Given the description of an element on the screen output the (x, y) to click on. 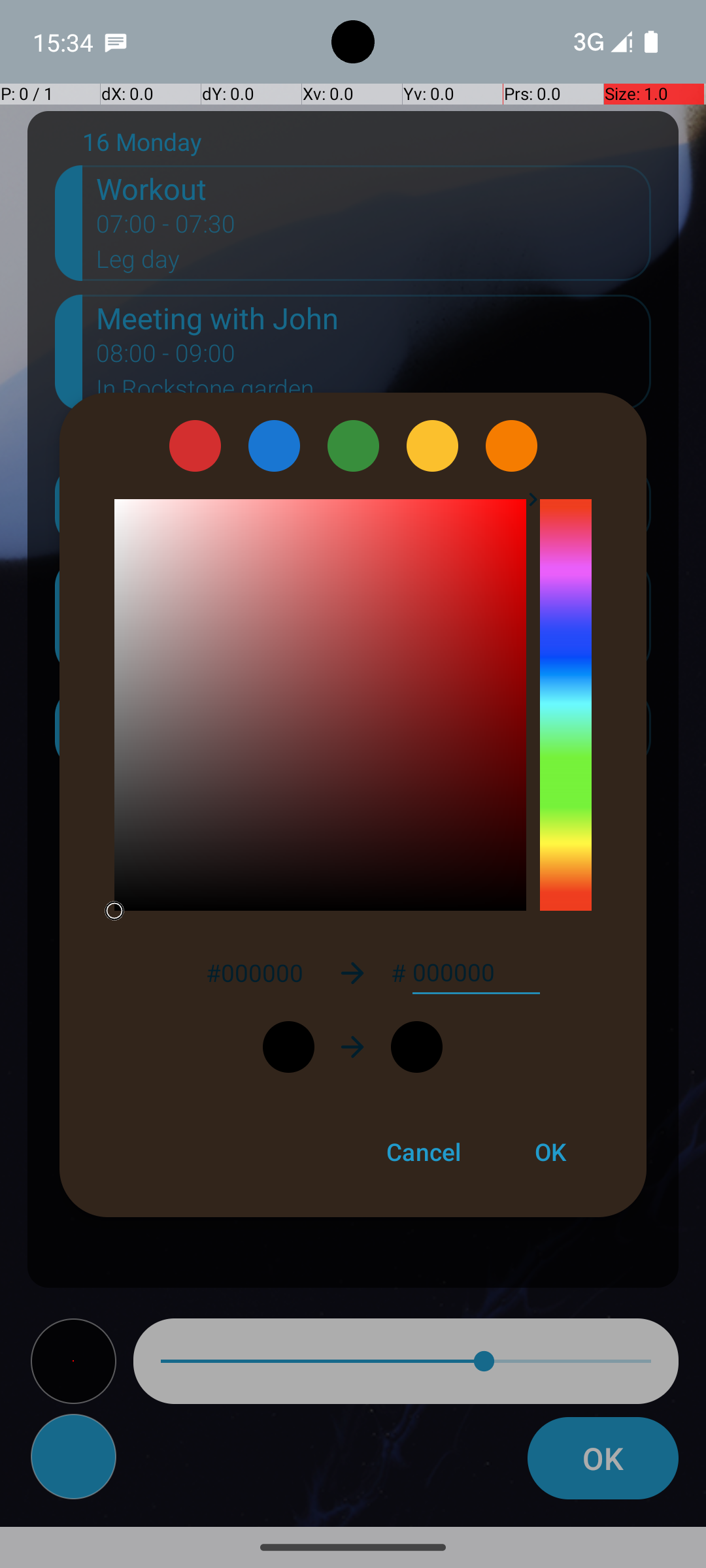
#000000 Element type: android.widget.TextView (254, 972)
# Element type: android.widget.TextView (397, 972)
000000 Element type: android.widget.EditText (475, 972)
